Given the description of an element on the screen output the (x, y) to click on. 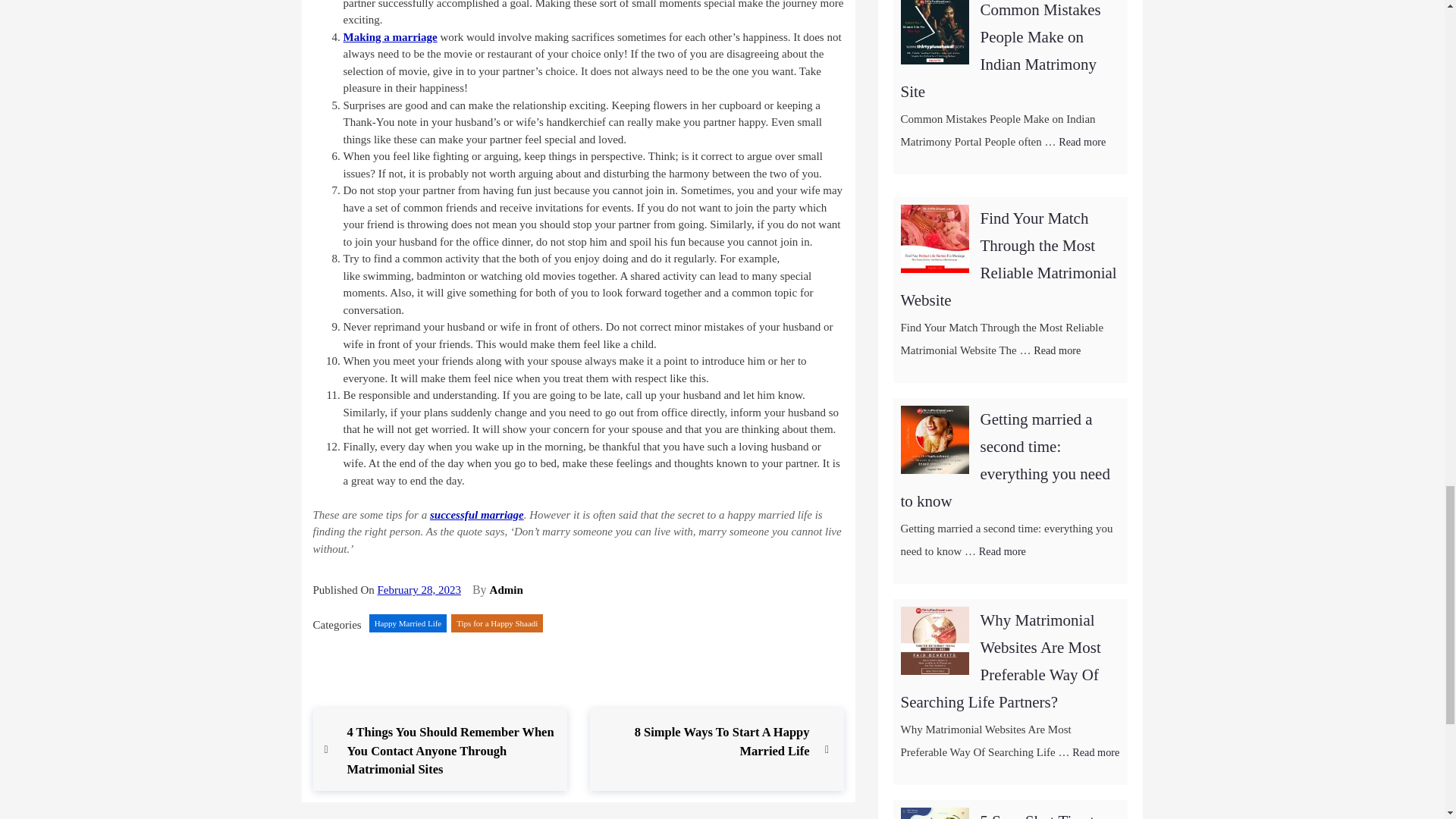
successful marriage (476, 514)
Admin (704, 742)
Happy Married Life (505, 589)
Tips for a Happy Shaadi (407, 623)
Making a marriage (497, 623)
February 28, 2023 (389, 37)
